Given the description of an element on the screen output the (x, y) to click on. 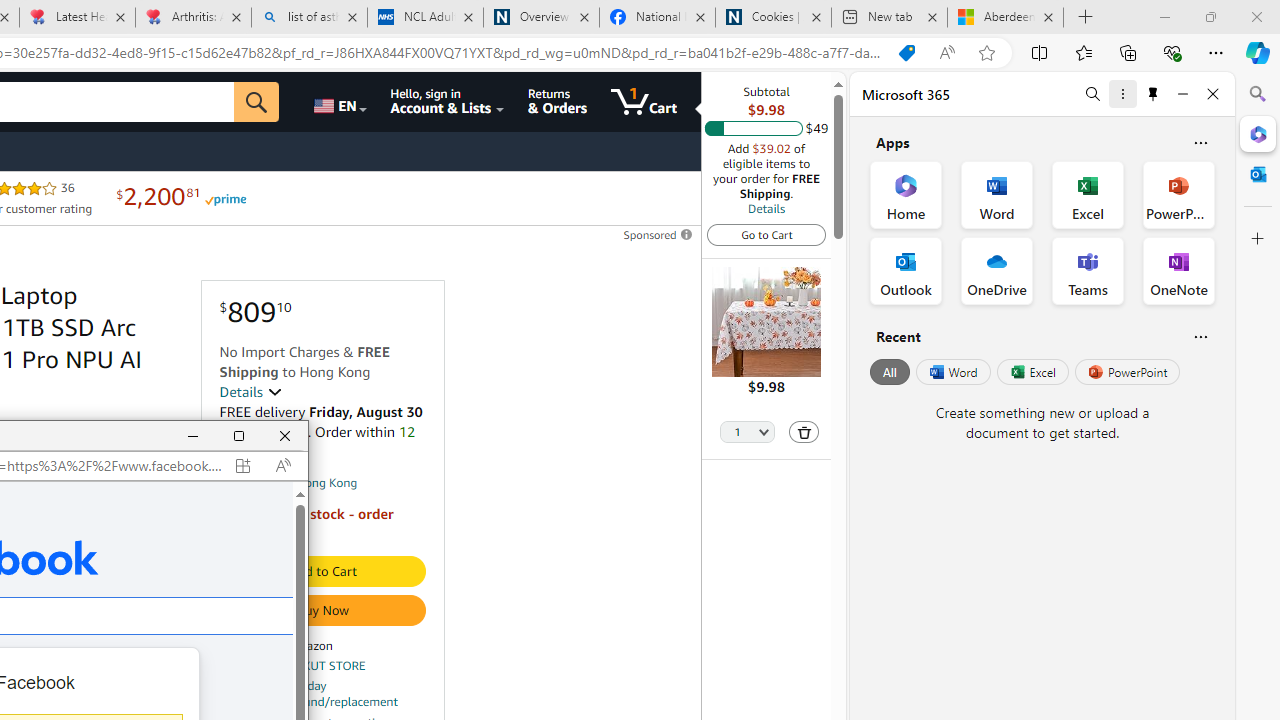
Cookies | About | NICE (772, 17)
Maximize (239, 436)
Delete (804, 431)
Arthritis: Ask Health Professionals (192, 17)
All (890, 372)
OneDrive Office App (996, 270)
Go to Cart (766, 234)
list of asthma inhalers uk - Search (309, 17)
